Given the description of an element on the screen output the (x, y) to click on. 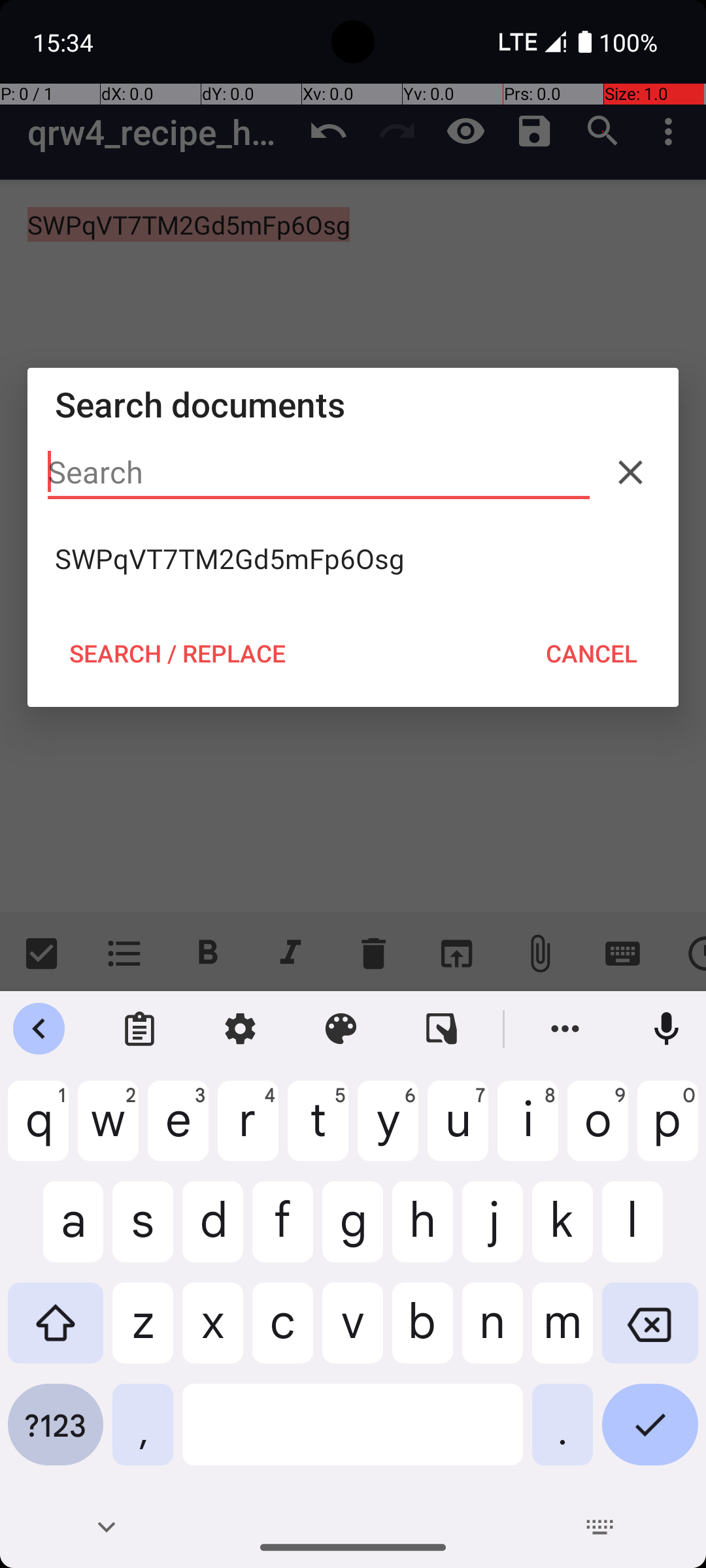
SWPqVT7TM2Gd5mFp6Osg Element type: android.widget.TextView (352, 558)
